Given the description of an element on the screen output the (x, y) to click on. 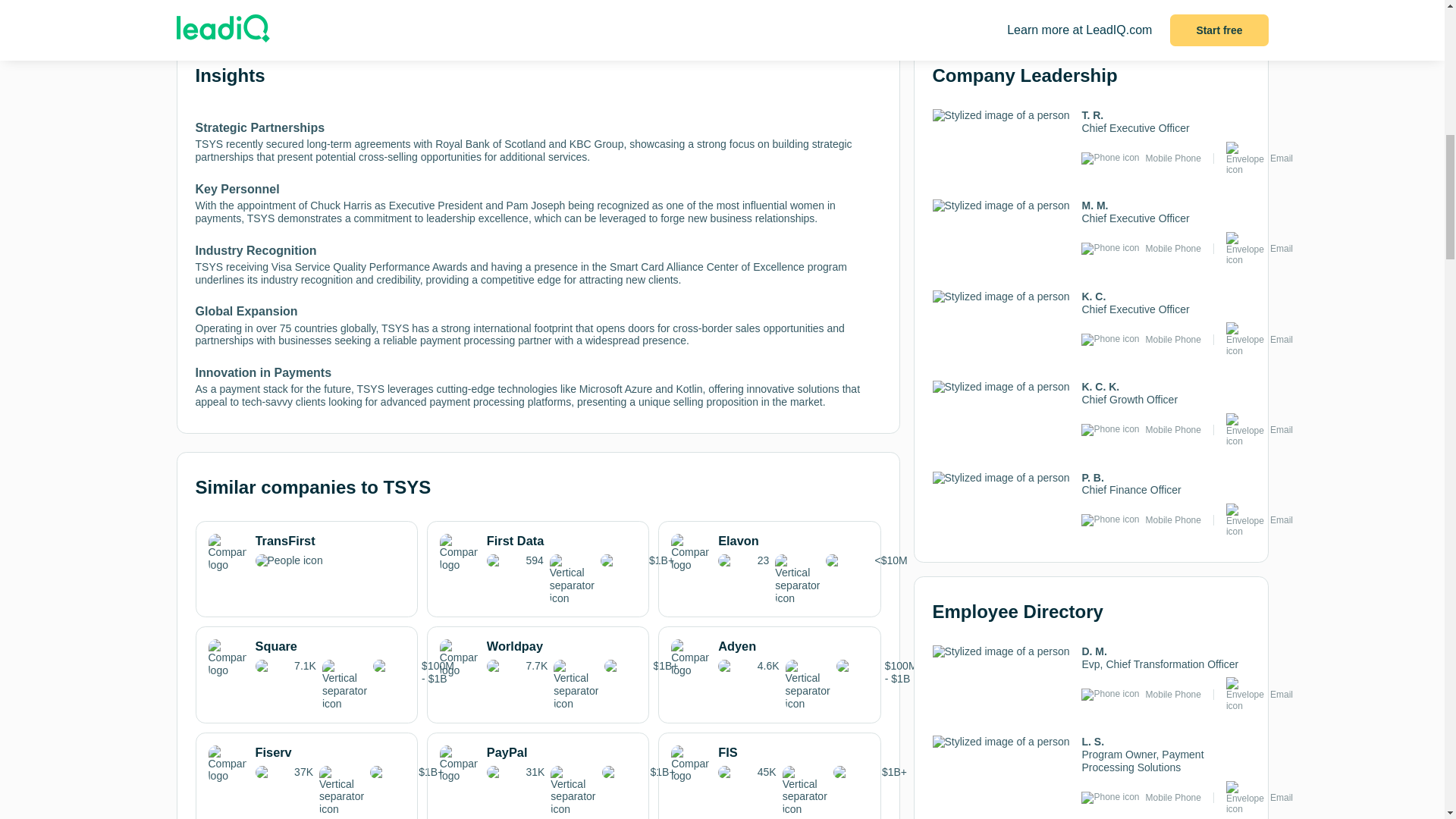
Insights (236, 3)
TransFirst (306, 552)
FAQ (838, 3)
Email Format (718, 10)
Similar companies (357, 10)
Tech Stack (476, 3)
